Given the description of an element on the screen output the (x, y) to click on. 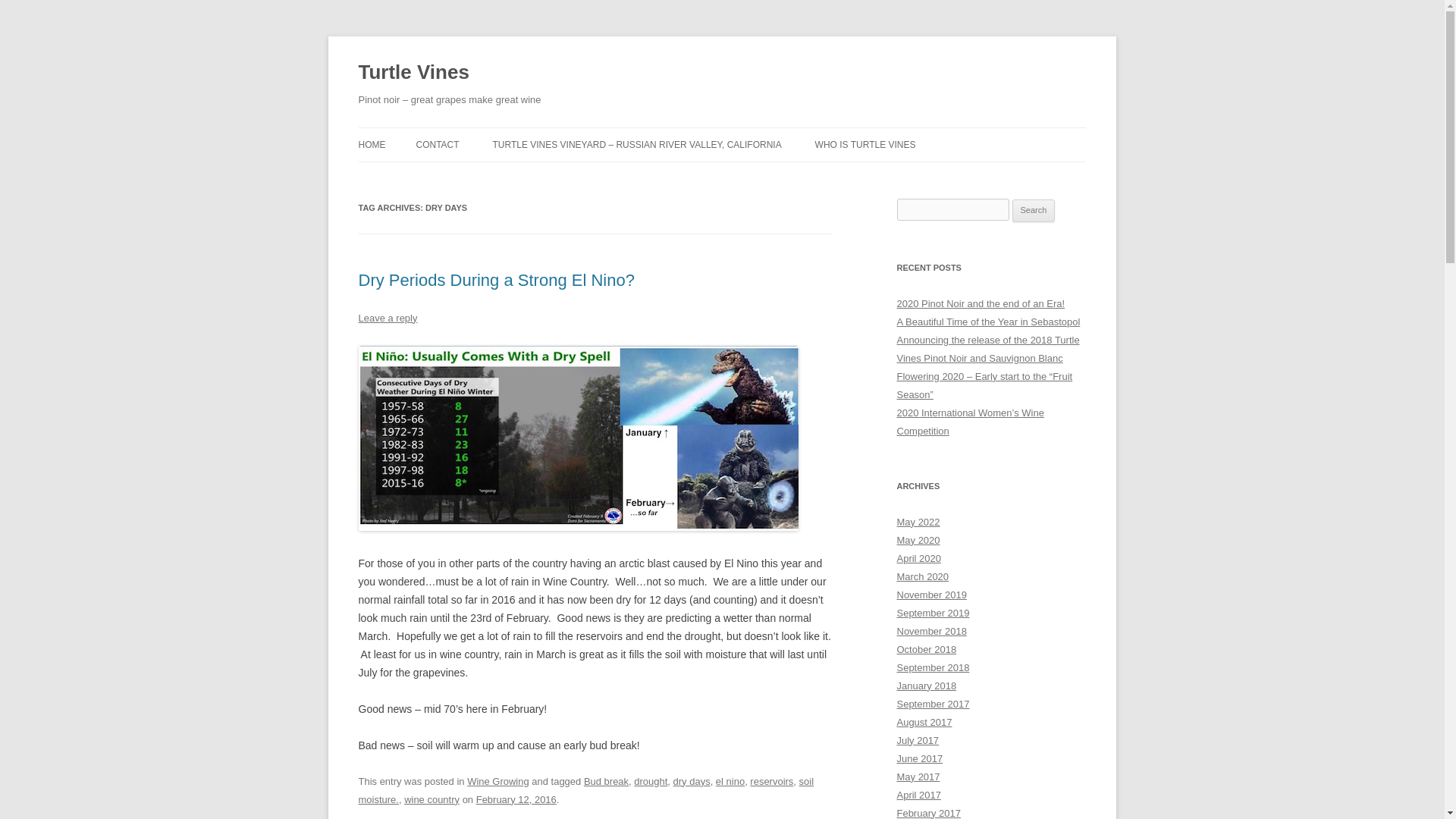
Skip to content (757, 132)
drought (649, 781)
Wine Growing (498, 781)
Turtle Vines (413, 72)
el nino (730, 781)
2020 Pinot Noir and the end of an Era! (980, 303)
Search (1033, 210)
A Beautiful Time of the Year in Sebastopol (988, 321)
September 2017 (932, 704)
